Given the description of an element on the screen output the (x, y) to click on. 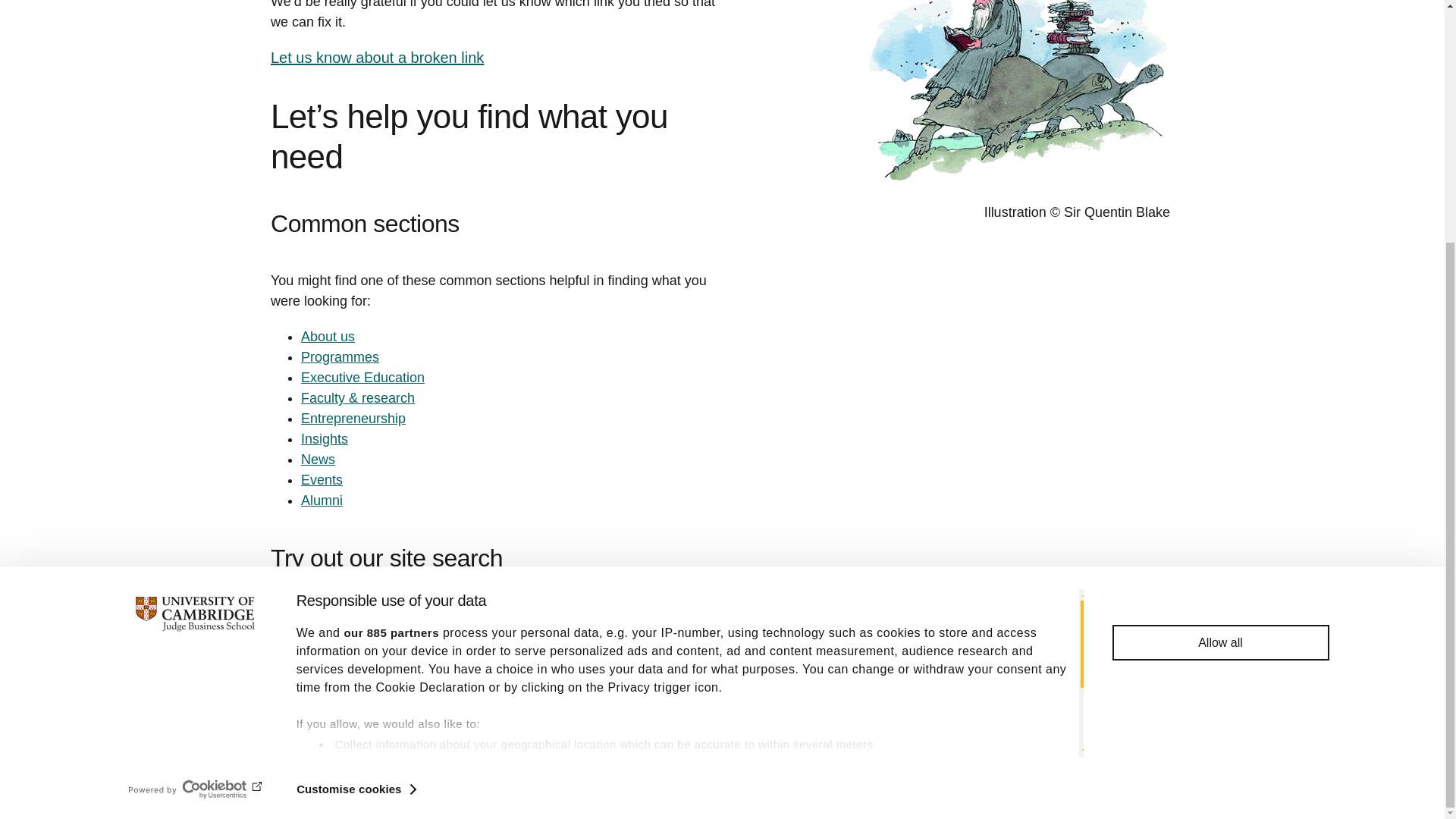
details section (855, 448)
our 885 partners (391, 297)
Customise cookies (355, 454)
